Given the description of an element on the screen output the (x, y) to click on. 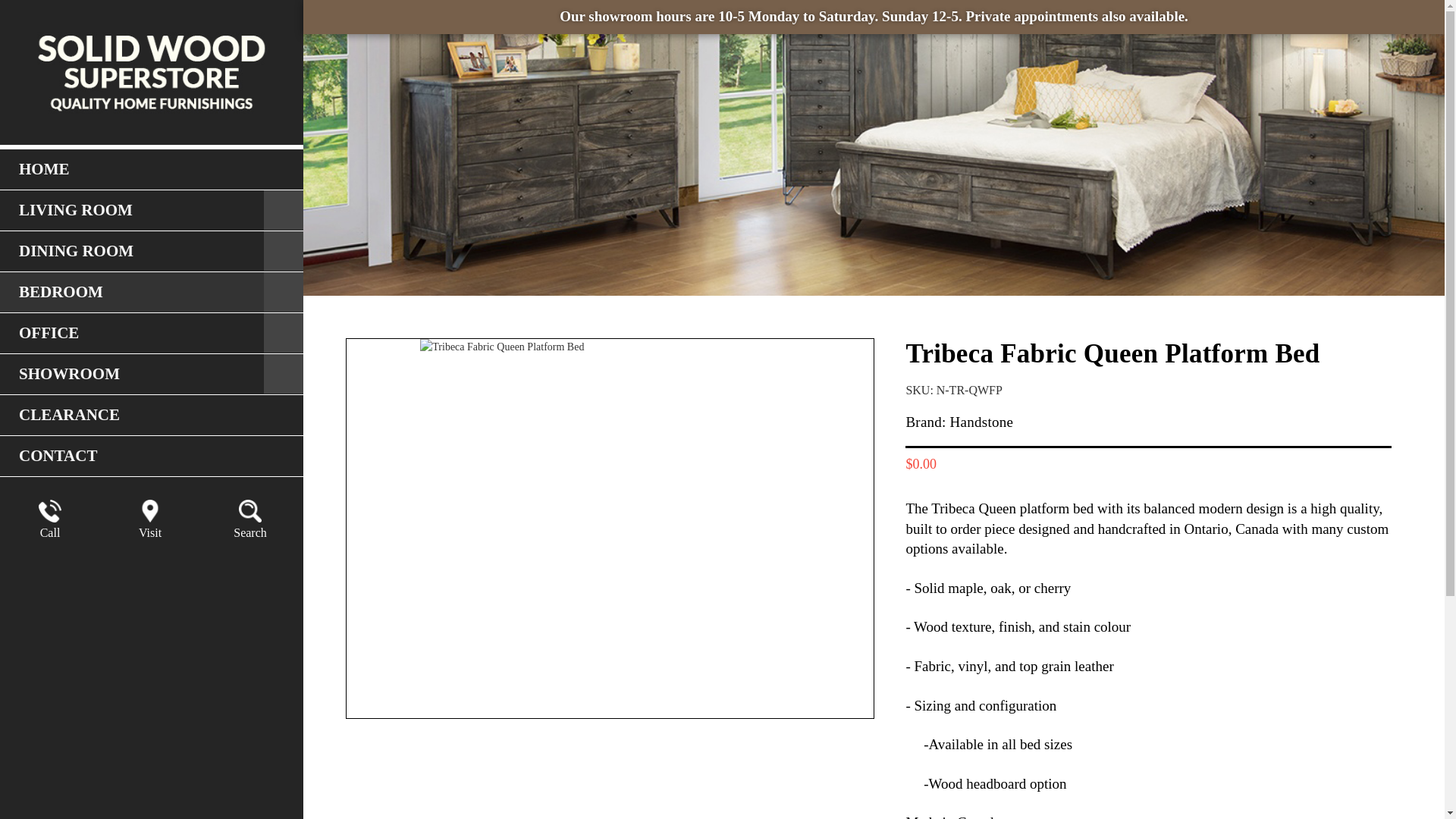
Solid Wood Superstore (151, 72)
CONTACT (151, 455)
BEDROOM (151, 291)
SHOWROOM (151, 373)
OFFICE (151, 332)
LIVING ROOM (151, 210)
DINING ROOM (151, 250)
CLEARANCE (151, 414)
HOME (151, 169)
